Given the description of an element on the screen output the (x, y) to click on. 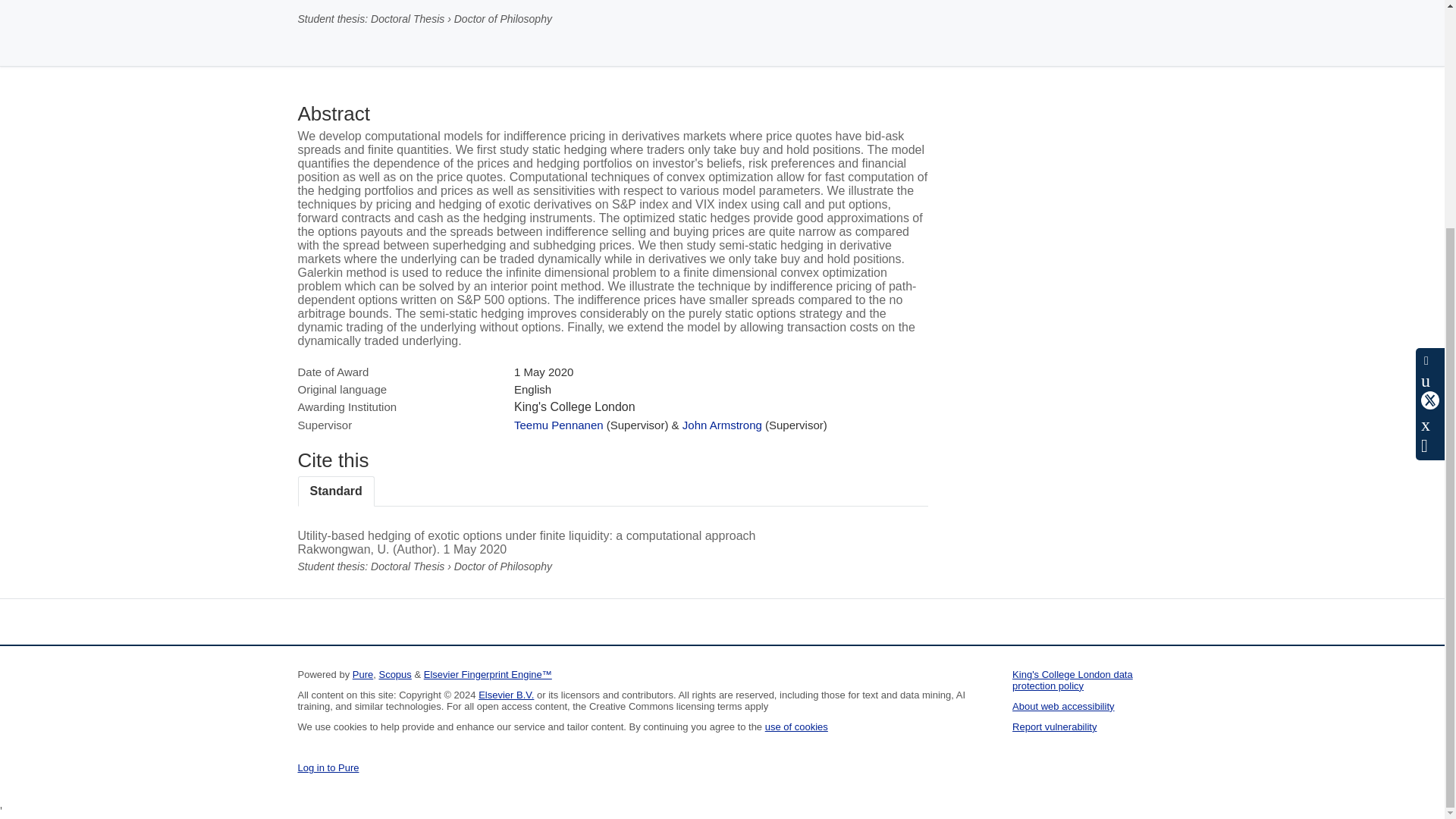
Scopus (394, 674)
Elsevier B.V. (506, 695)
Log in to Pure (327, 767)
Teemu Pennanen (558, 424)
King's College London data protection policy (1071, 680)
Report vulnerability (1053, 726)
Mathematics (331, 0)
use of cookies (796, 726)
About web accessibility (1062, 706)
Pure (362, 674)
